Given the description of an element on the screen output the (x, y) to click on. 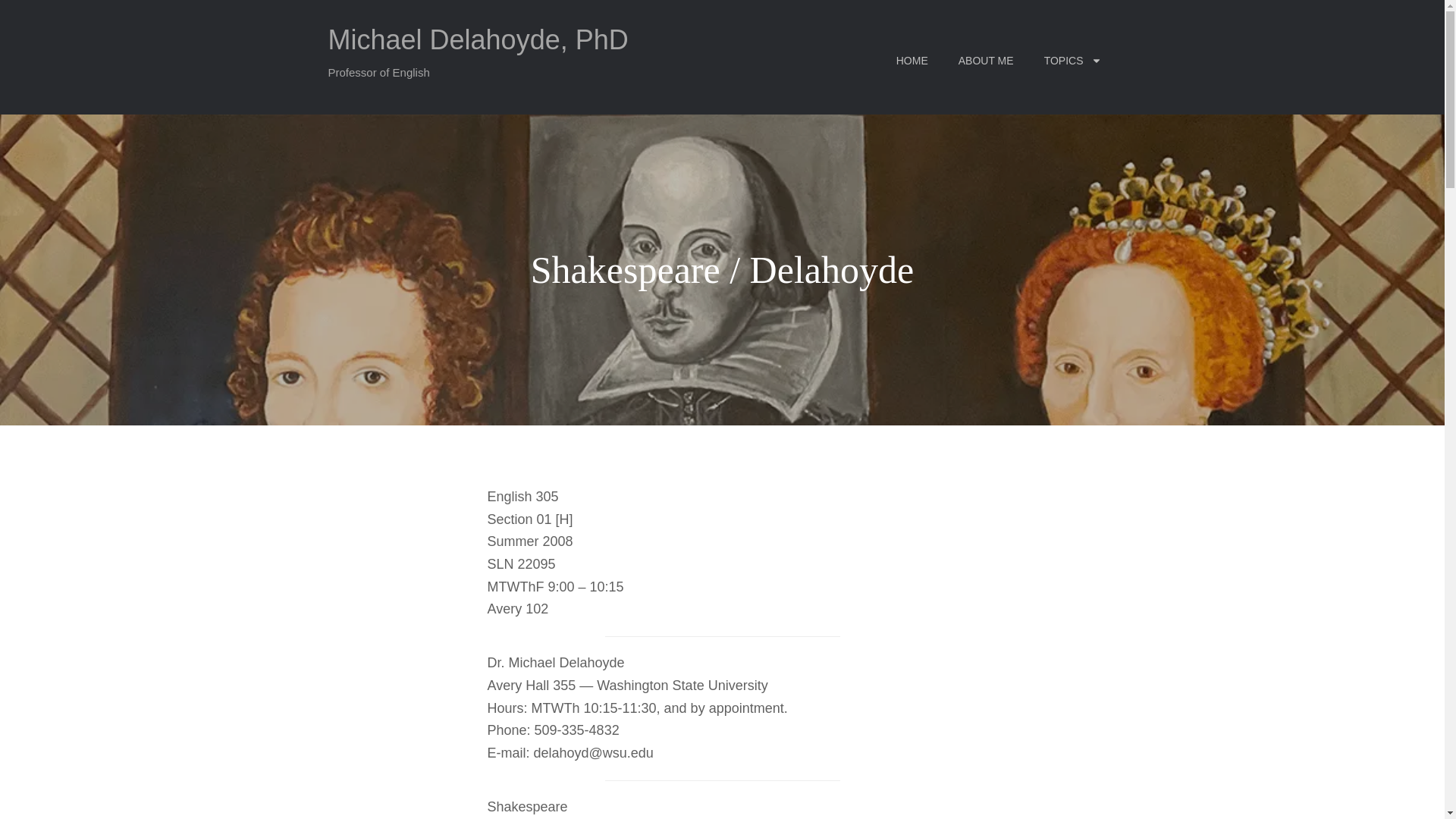
TOPICS (1072, 59)
HOME (911, 59)
Michael Delahoyde, PhD (477, 39)
ABOUT ME (986, 59)
